Given the description of an element on the screen output the (x, y) to click on. 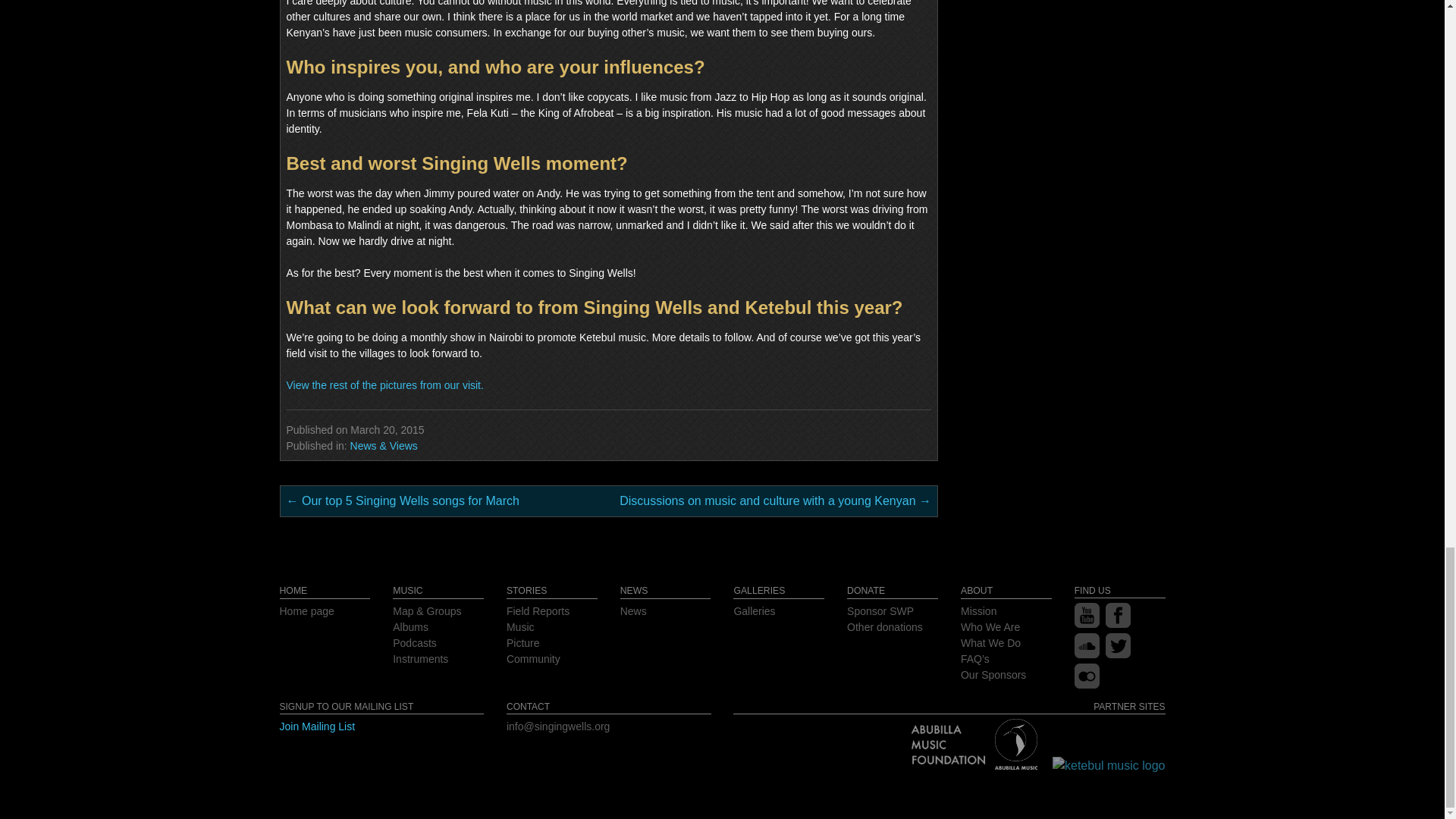
View our Facebook page (1118, 623)
View the rest of the pictures from our visit. (384, 385)
See our photos on Flickr (1086, 684)
Check out our Twttier feed (1118, 653)
View our Youtube channel (1086, 623)
Listen to our music on Soundcloud (1086, 653)
